Given the description of an element on the screen output the (x, y) to click on. 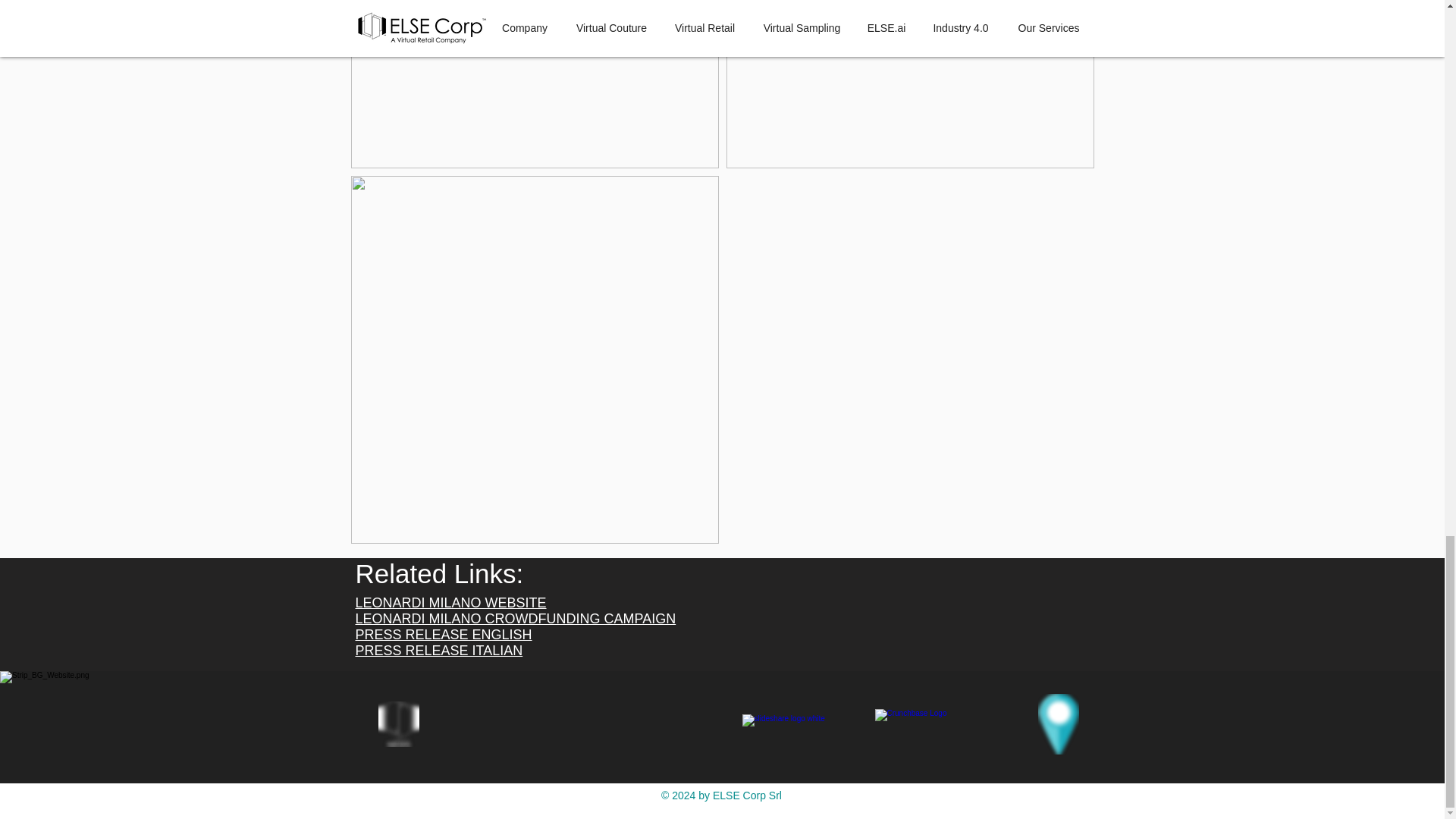
PRESS RELEASE ITALIAN (438, 650)
LEONARDI MILANO WEBSITE (450, 602)
PRESS RELEASE ENGLISH (443, 634)
LEONARDI MILANO CROWDFUNDING CAMPAIGN (515, 618)
